Given the description of an element on the screen output the (x, y) to click on. 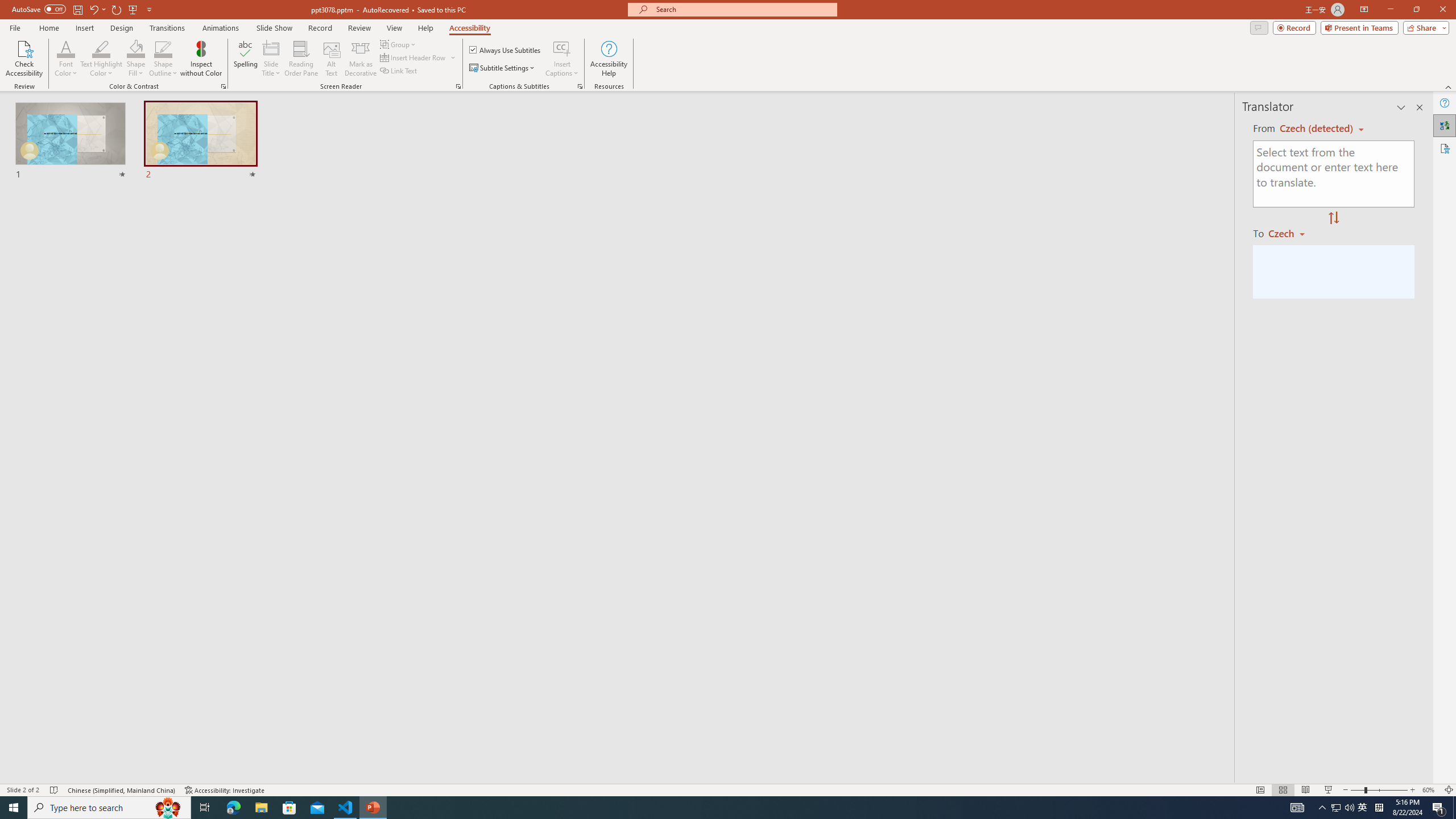
Swap "from" and "to" languages. (1333, 218)
Insert Header Row (418, 56)
Slide Title (271, 48)
Color & Contrast (223, 85)
Screen Reader (458, 85)
Spelling... (245, 58)
Czech (detected) (1317, 128)
